Given the description of an element on the screen output the (x, y) to click on. 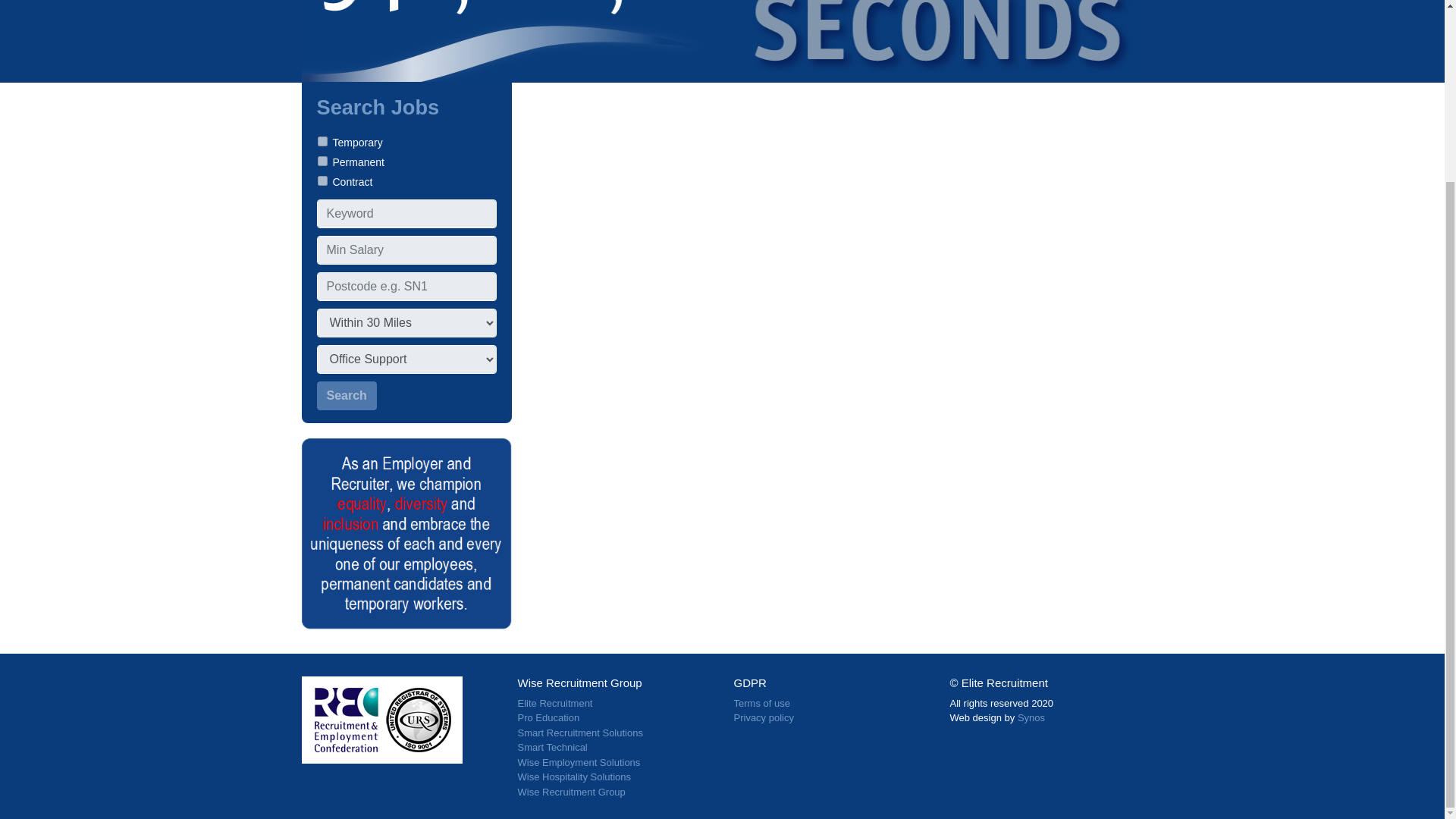
Smart Technical (551, 747)
9 (321, 180)
Wise Hospitality Solutions (573, 776)
Smart Recruitment Solutions (579, 732)
Elite Recruitment (554, 703)
Pro Education (547, 717)
Pro Education (547, 717)
Wise Employment Solutions (578, 762)
Search (347, 395)
Search (347, 395)
